Given the description of an element on the screen output the (x, y) to click on. 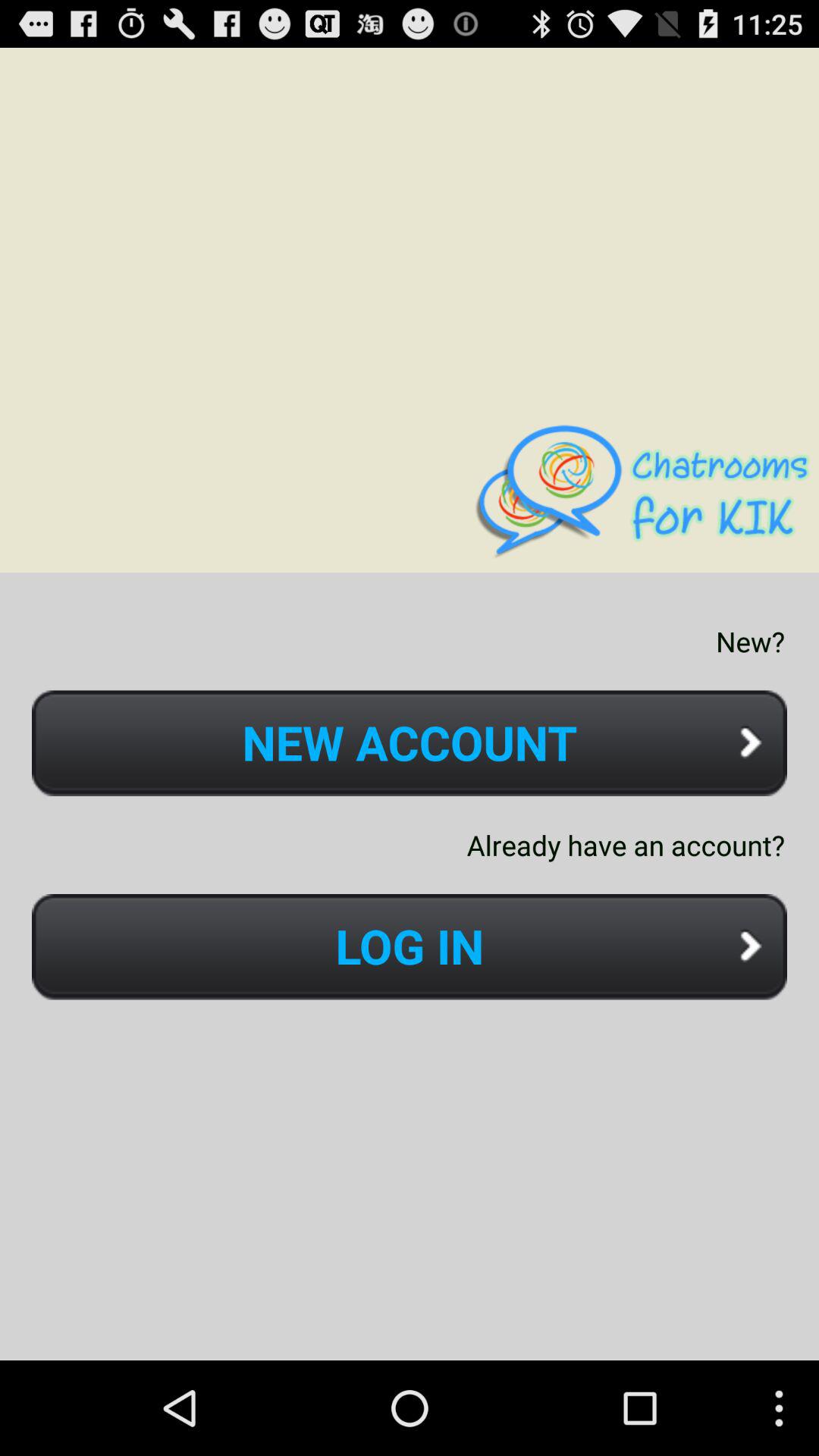
scroll until the log in item (409, 946)
